Given the description of an element on the screen output the (x, y) to click on. 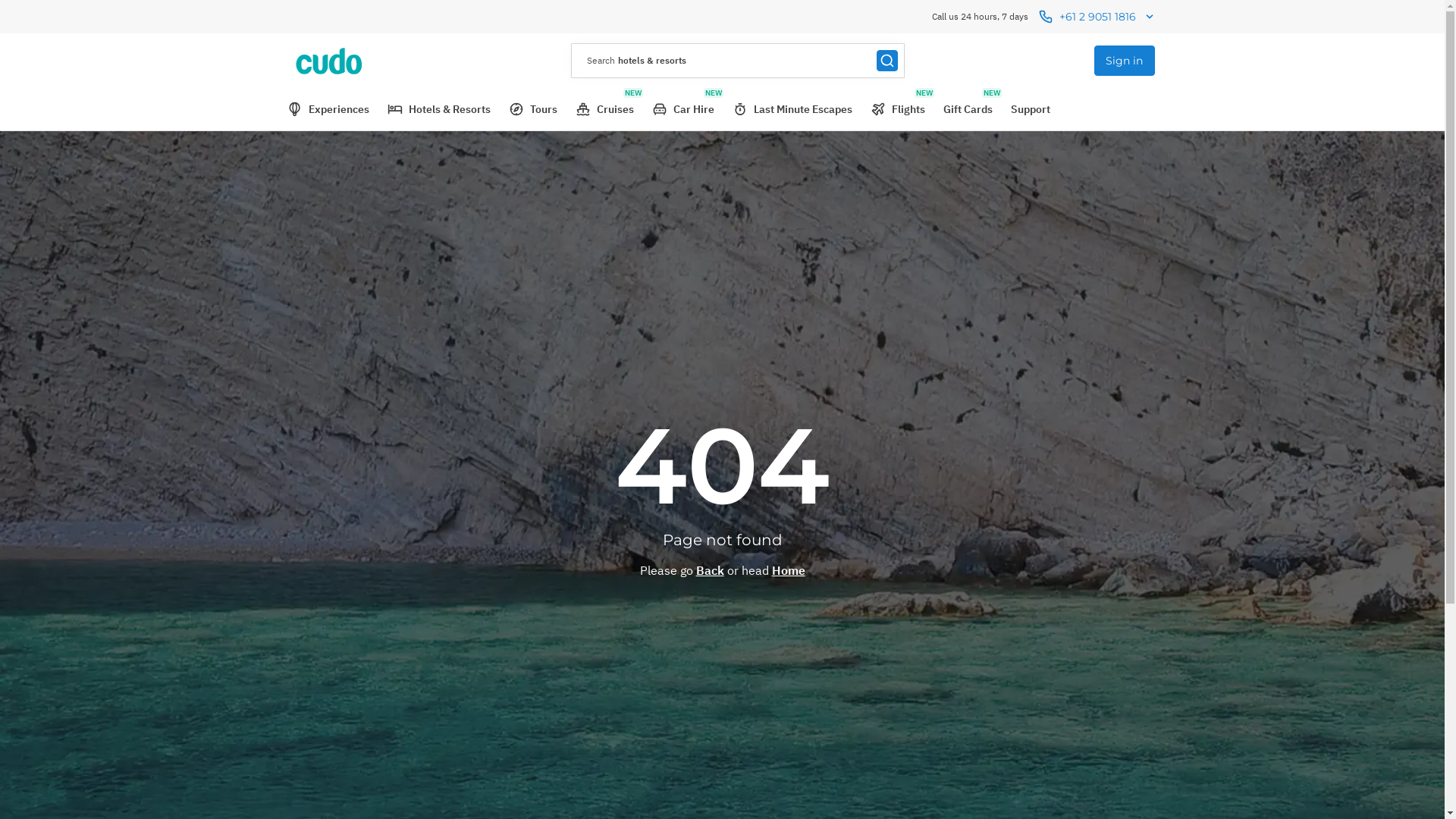
Sign in Element type: text (1123, 60)
Cruises
NEW Element type: text (603, 108)
Experiences Element type: text (327, 108)
Last Minute Escapes Element type: text (792, 108)
Flights
NEW Element type: text (897, 108)
Support Element type: text (1029, 108)
Back Element type: text (710, 570)
+61 2 9051 1816 Element type: text (1097, 16)
Home Element type: text (788, 570)
Gift Cards
NEW Element type: text (967, 108)
Car Hire
NEW Element type: text (683, 108)
Tours Element type: text (531, 108)
Hotels & Resorts Element type: text (437, 108)
Cudo Element type: text (334, 60)
Search
hotels & resorts Element type: text (737, 60)
